Given the description of an element on the screen output the (x, y) to click on. 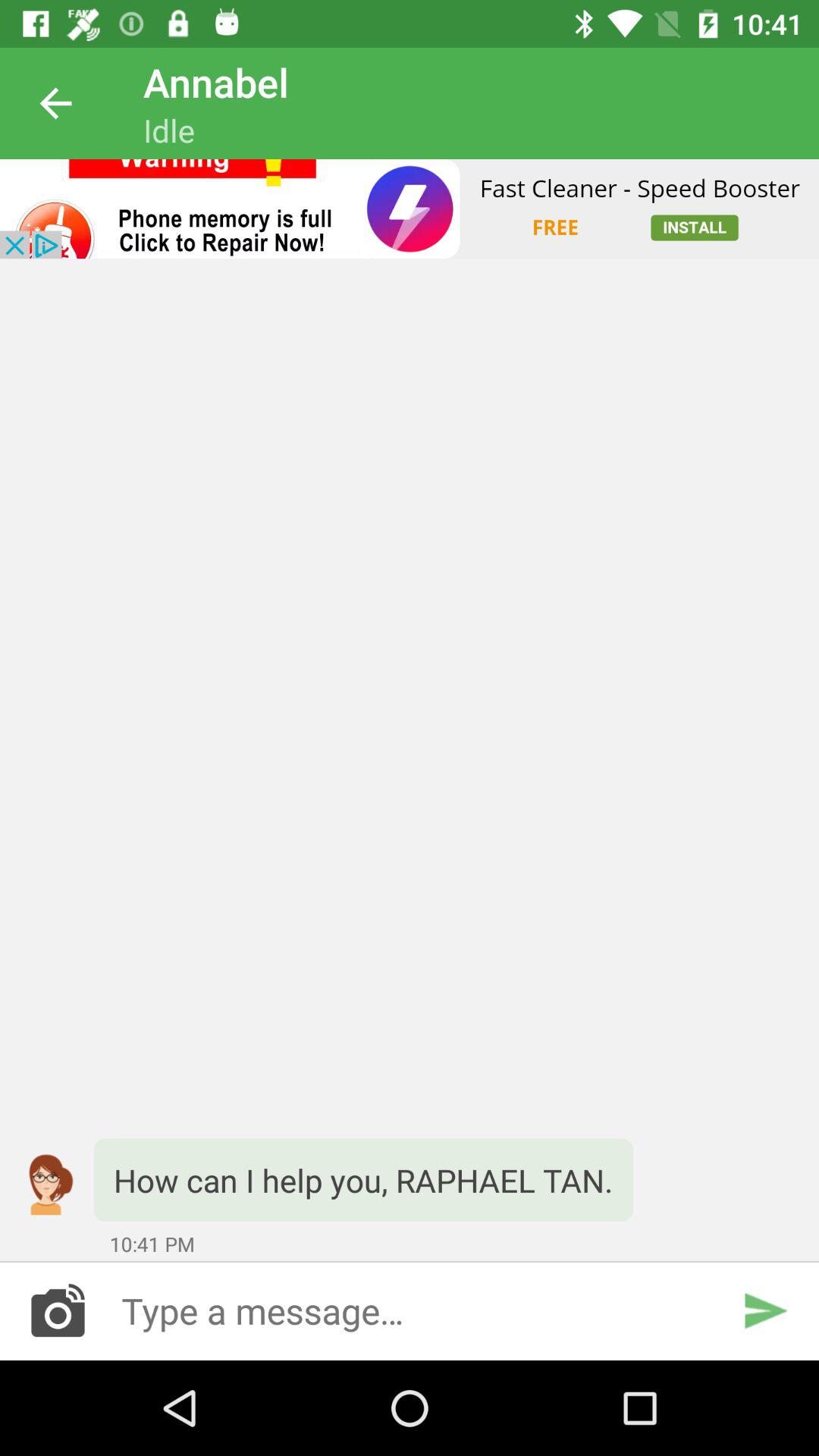
advertisement (409, 208)
